Given the description of an element on the screen output the (x, y) to click on. 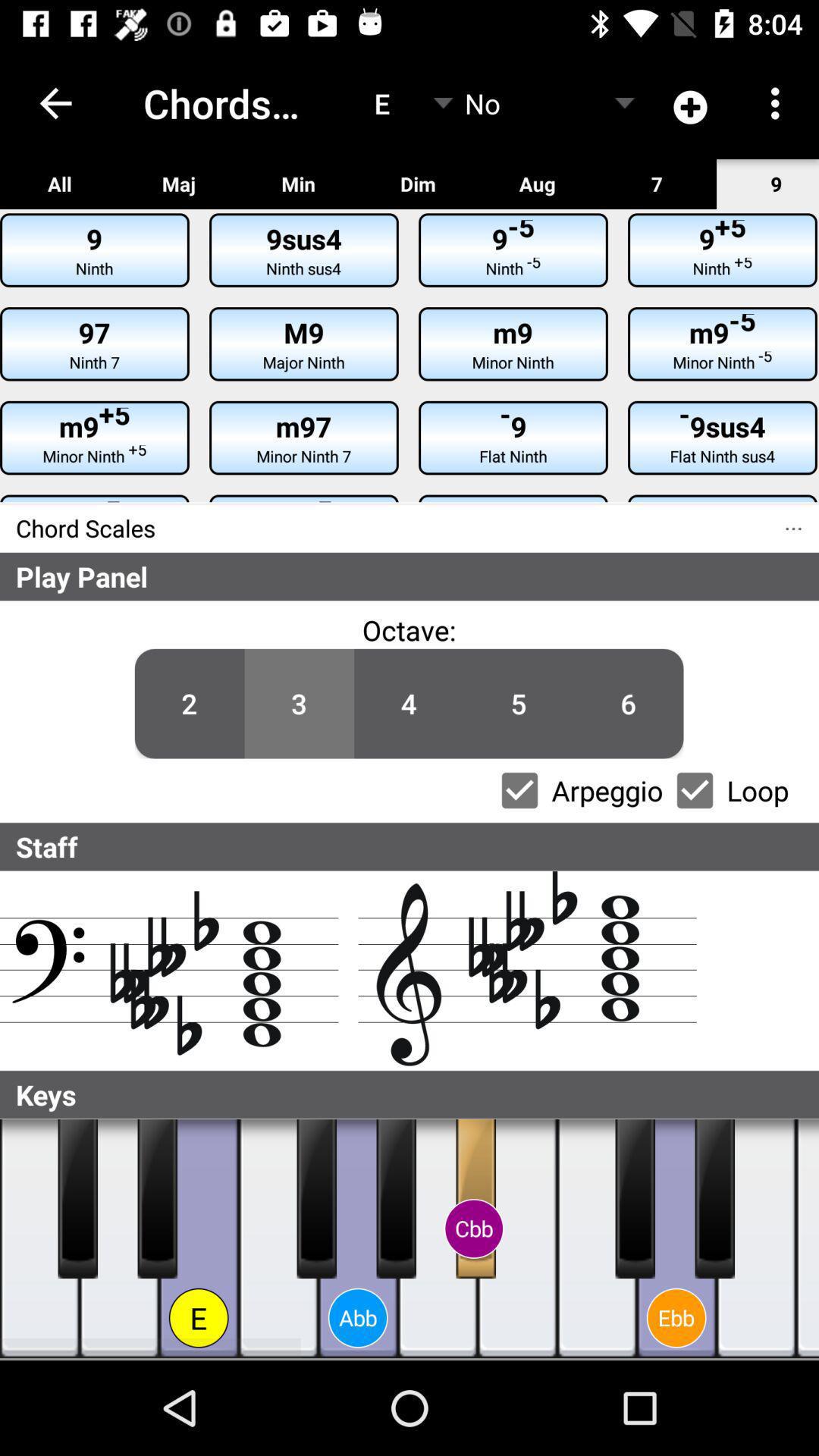
press piano key (39, 1238)
